Given the description of an element on the screen output the (x, y) to click on. 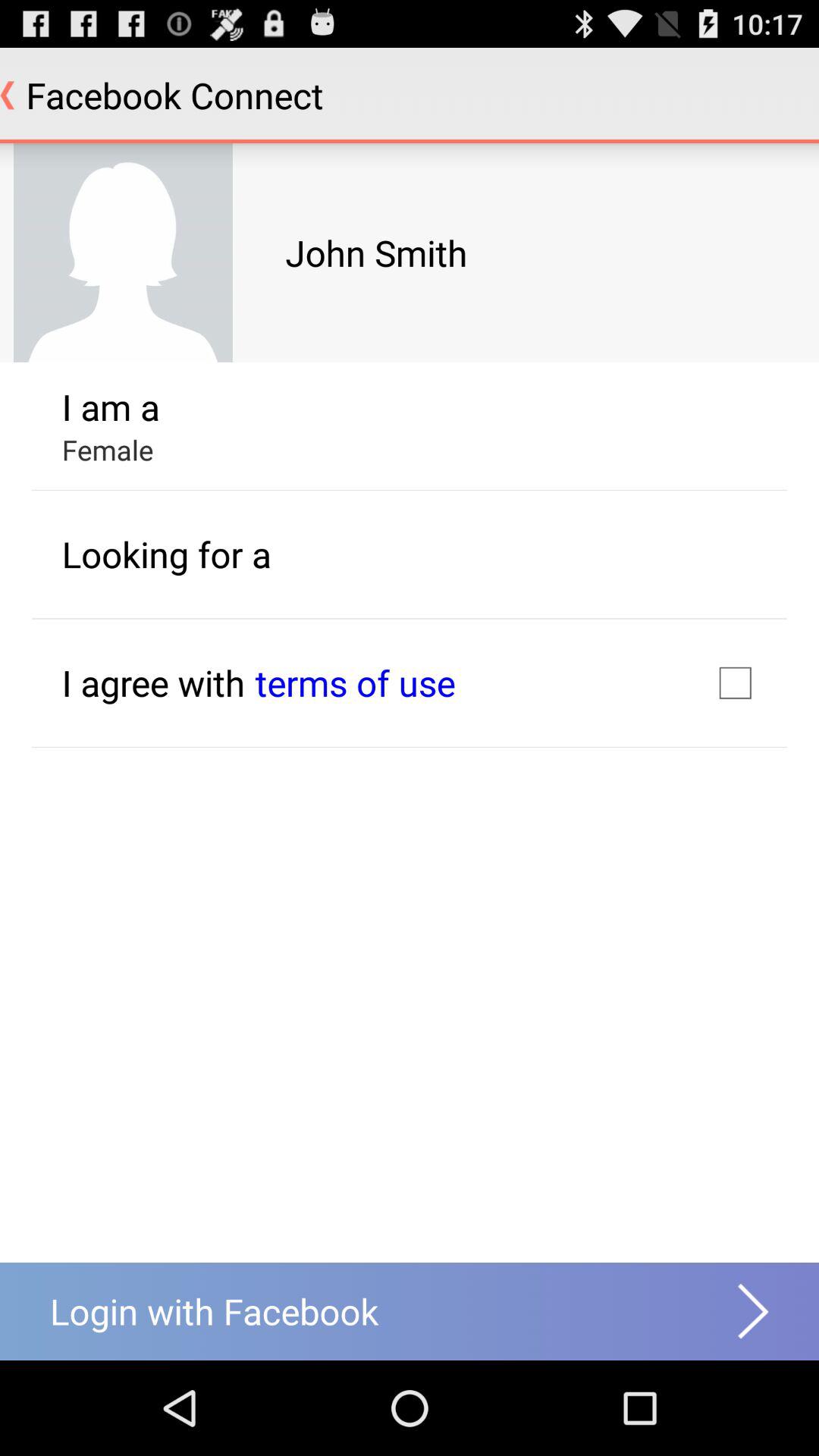
click looking for a app (166, 554)
